Given the description of an element on the screen output the (x, y) to click on. 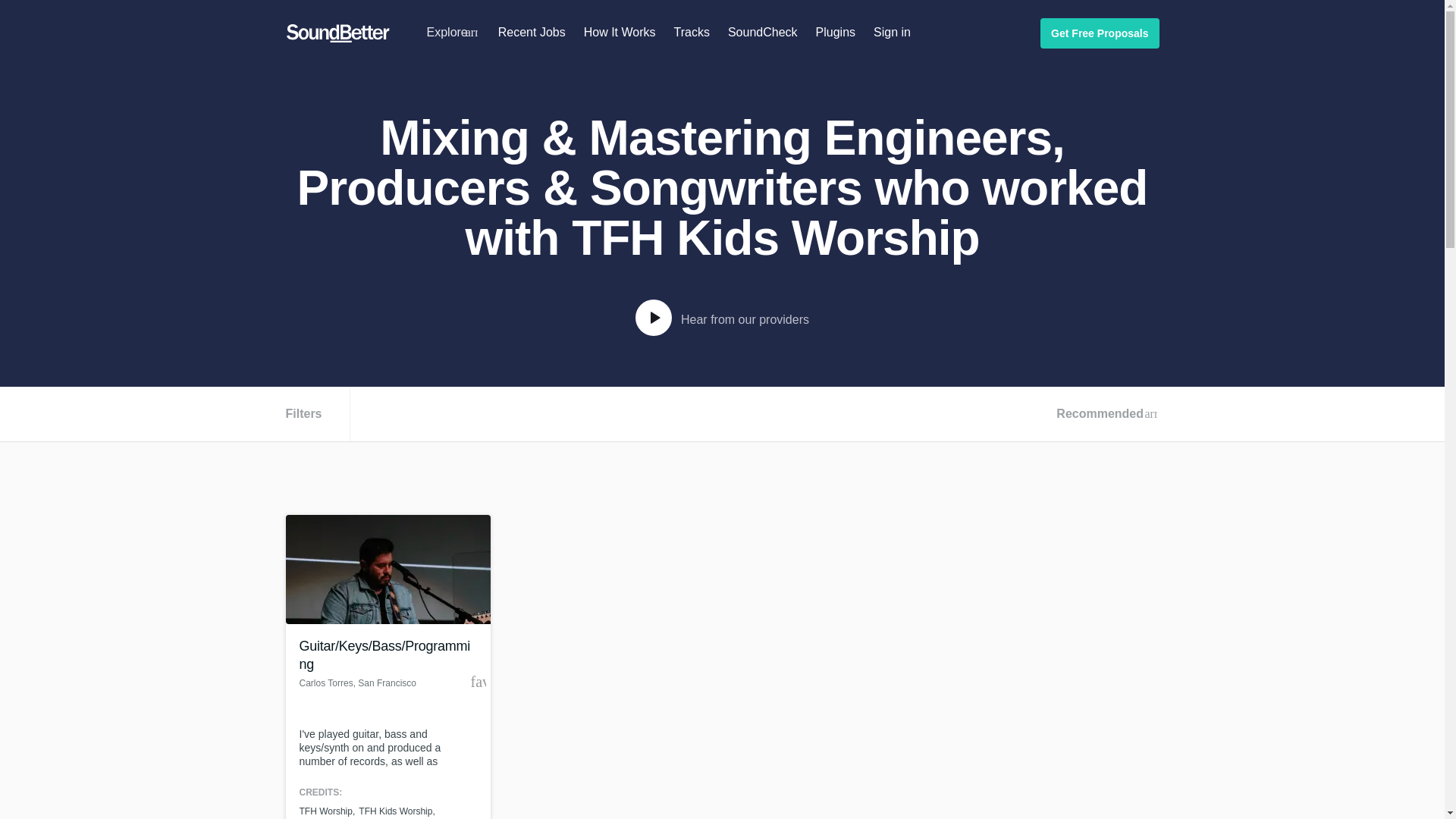
SoundBetter (337, 33)
